Given the description of an element on the screen output the (x, y) to click on. 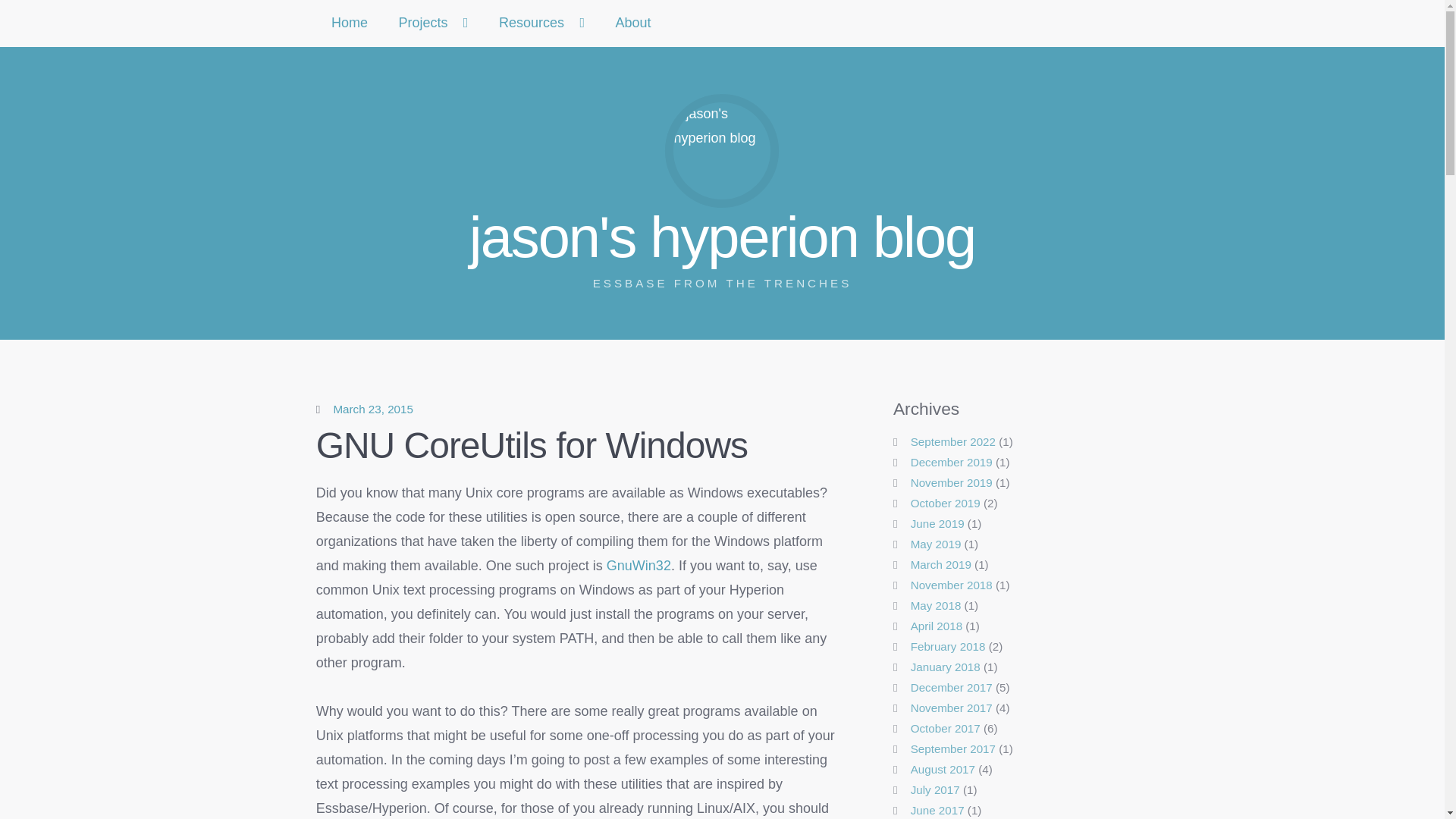
About (632, 23)
Home (349, 23)
Resources (639, 565)
jason's hyperion blog (541, 23)
March 23, 2015 (373, 408)
Projects (373, 408)
